Given the description of an element on the screen output the (x, y) to click on. 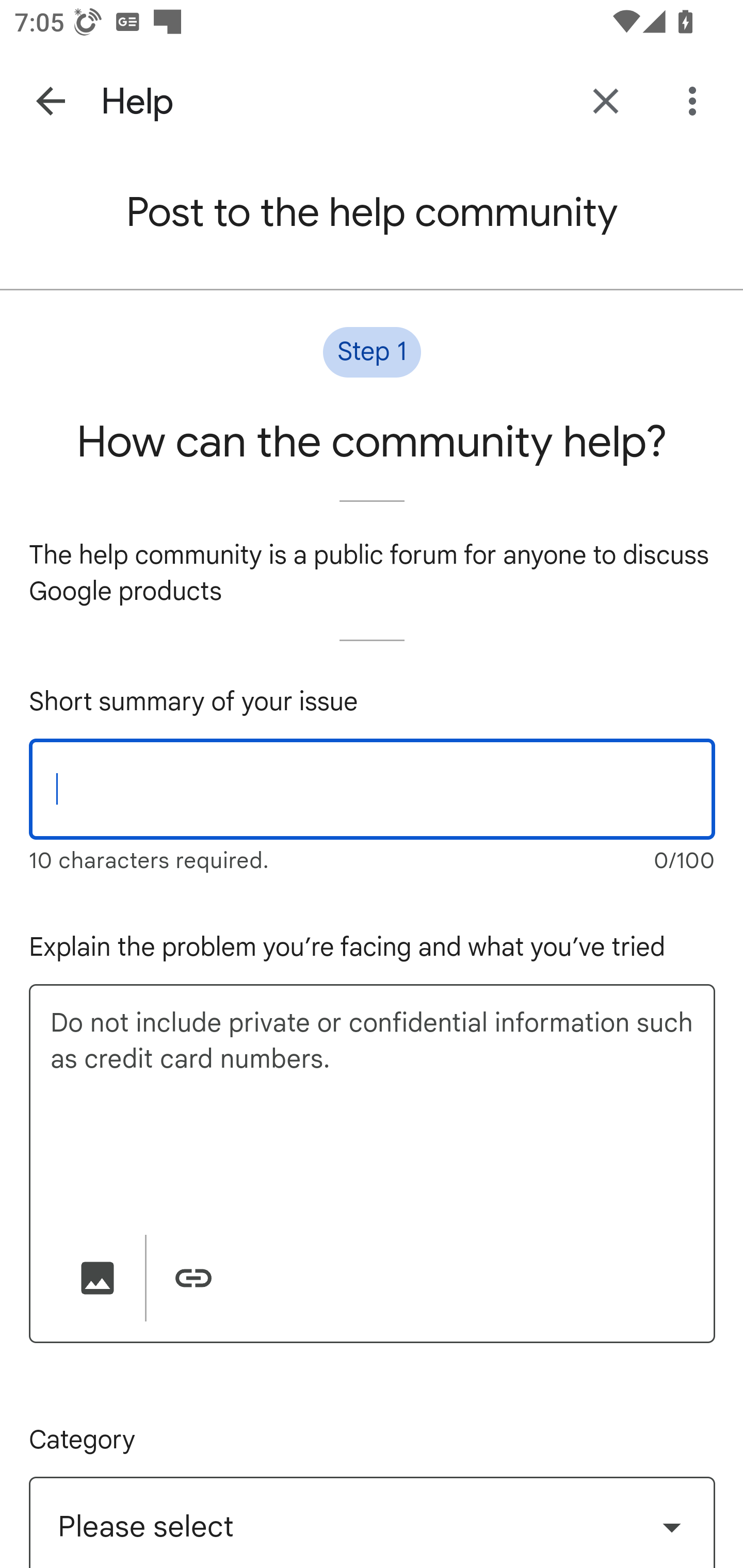
Navigate up (50, 101)
Return to Google Play services (605, 101)
More options (696, 101)
Attach Image (97, 1278)
Insert link (Ctrl+k) (192, 1278)
Category Please select (375, 1522)
